Given the description of an element on the screen output the (x, y) to click on. 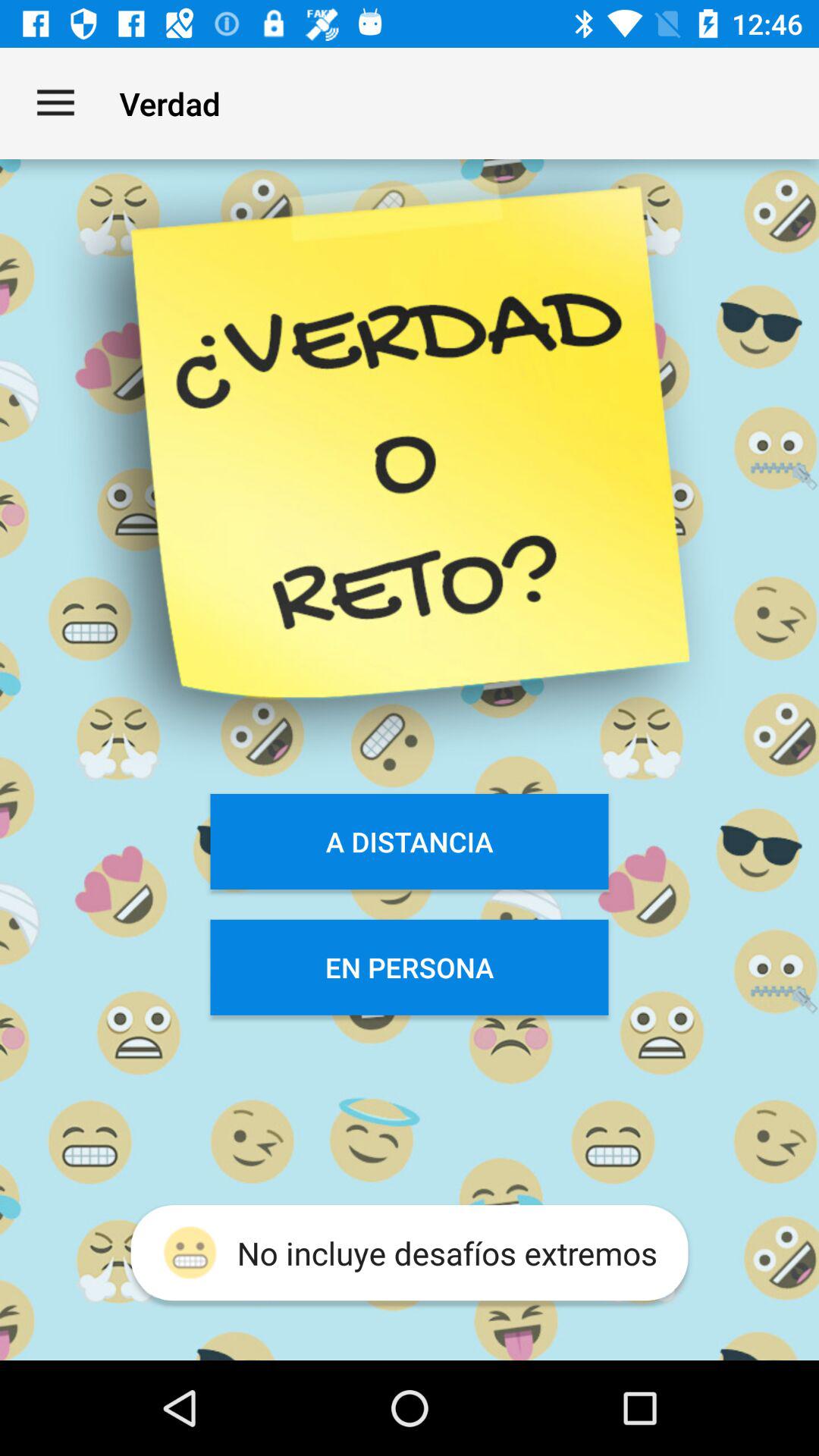
turn off a distancia icon (409, 841)
